Given the description of an element on the screen output the (x, y) to click on. 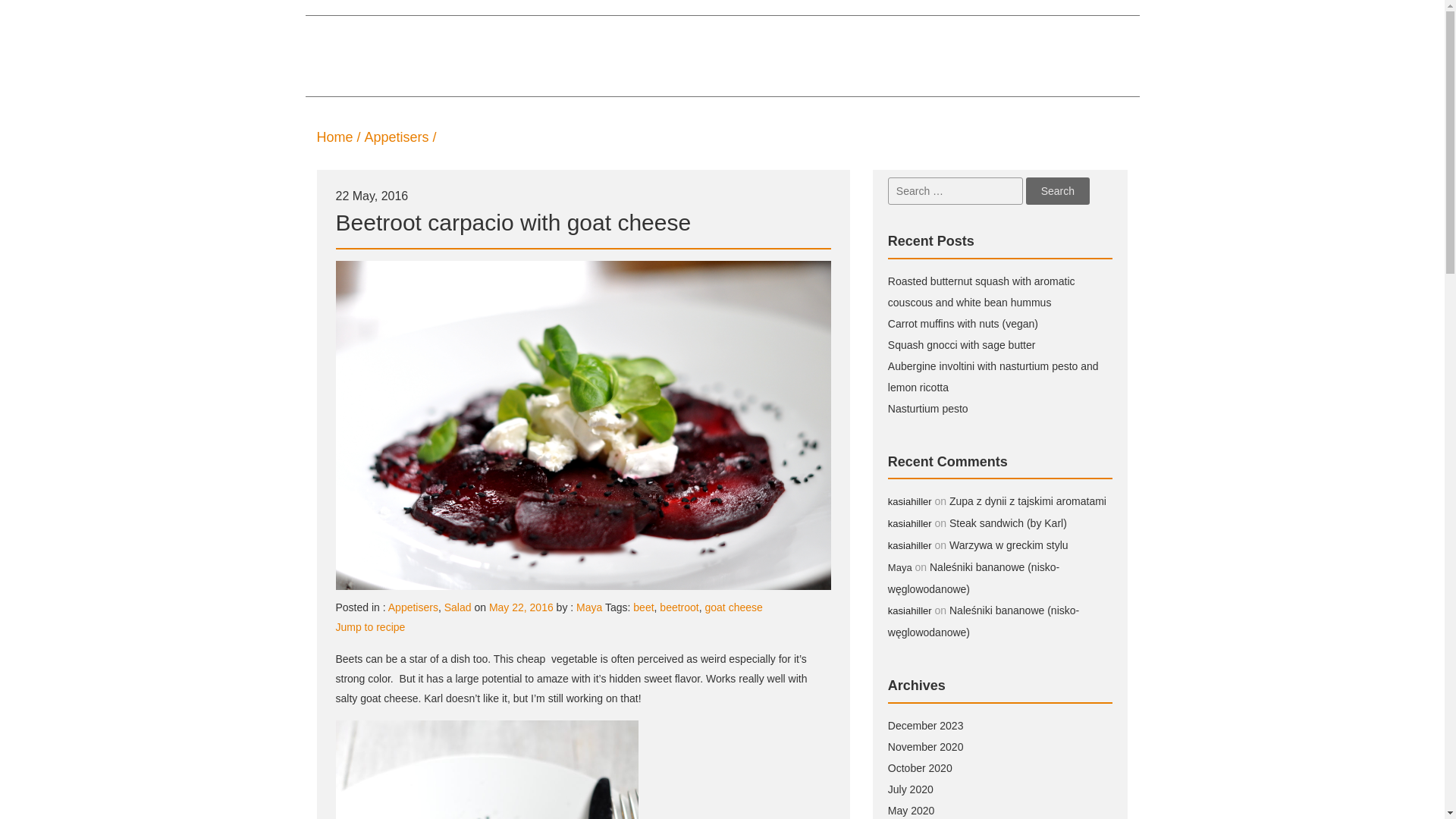
December 2023 (925, 725)
SPANISH HOLIDAYS (582, 55)
Nasturtium pesto (928, 408)
May 22, 2016 (521, 607)
Maya (900, 567)
Warzywa w greckim stylu (1008, 544)
1:46 pm (521, 607)
Aubergine involtini with nasturtium pesto and lemon ricotta (993, 376)
View all posts by Maya (589, 607)
